Given the description of an element on the screen output the (x, y) to click on. 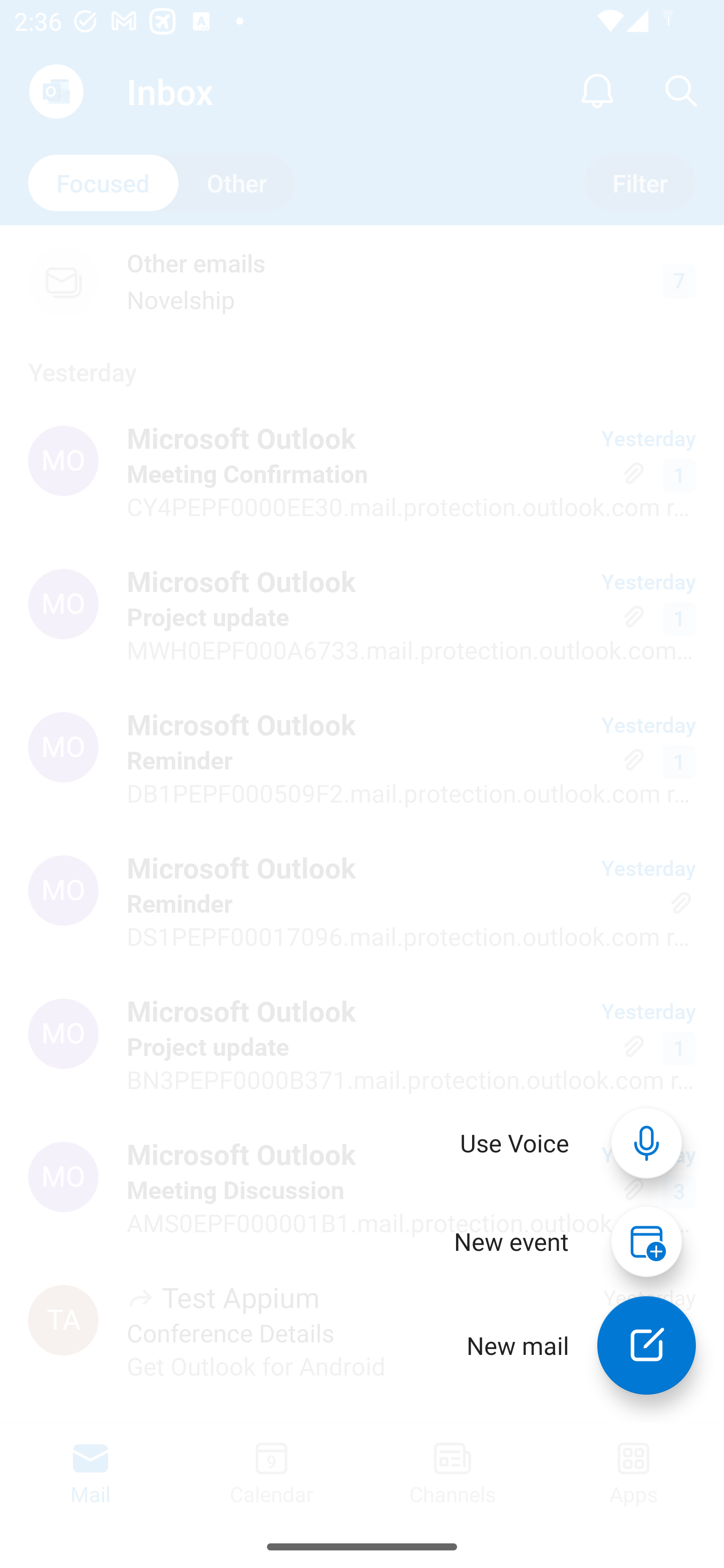
Use Voice (514, 1142)
New event (511, 1241)
New mail New mail New mail (566, 1344)
New mail (646, 1344)
